Given the description of an element on the screen output the (x, y) to click on. 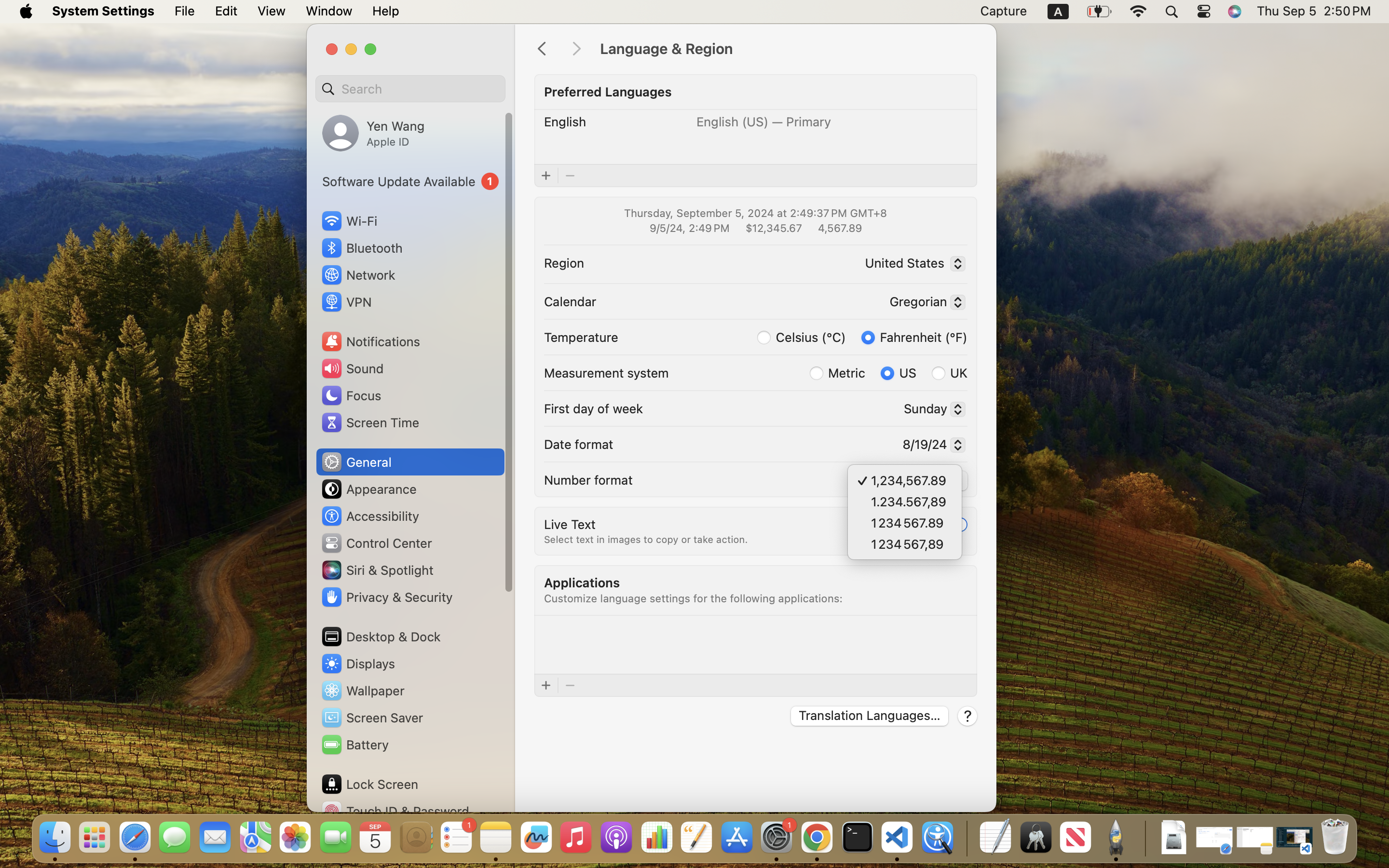
Number format Element type: AXStaticText (588, 479)
Temperature Element type: AXStaticText (581, 336)
General Element type: AXStaticText (355, 461)
